Given the description of an element on the screen output the (x, y) to click on. 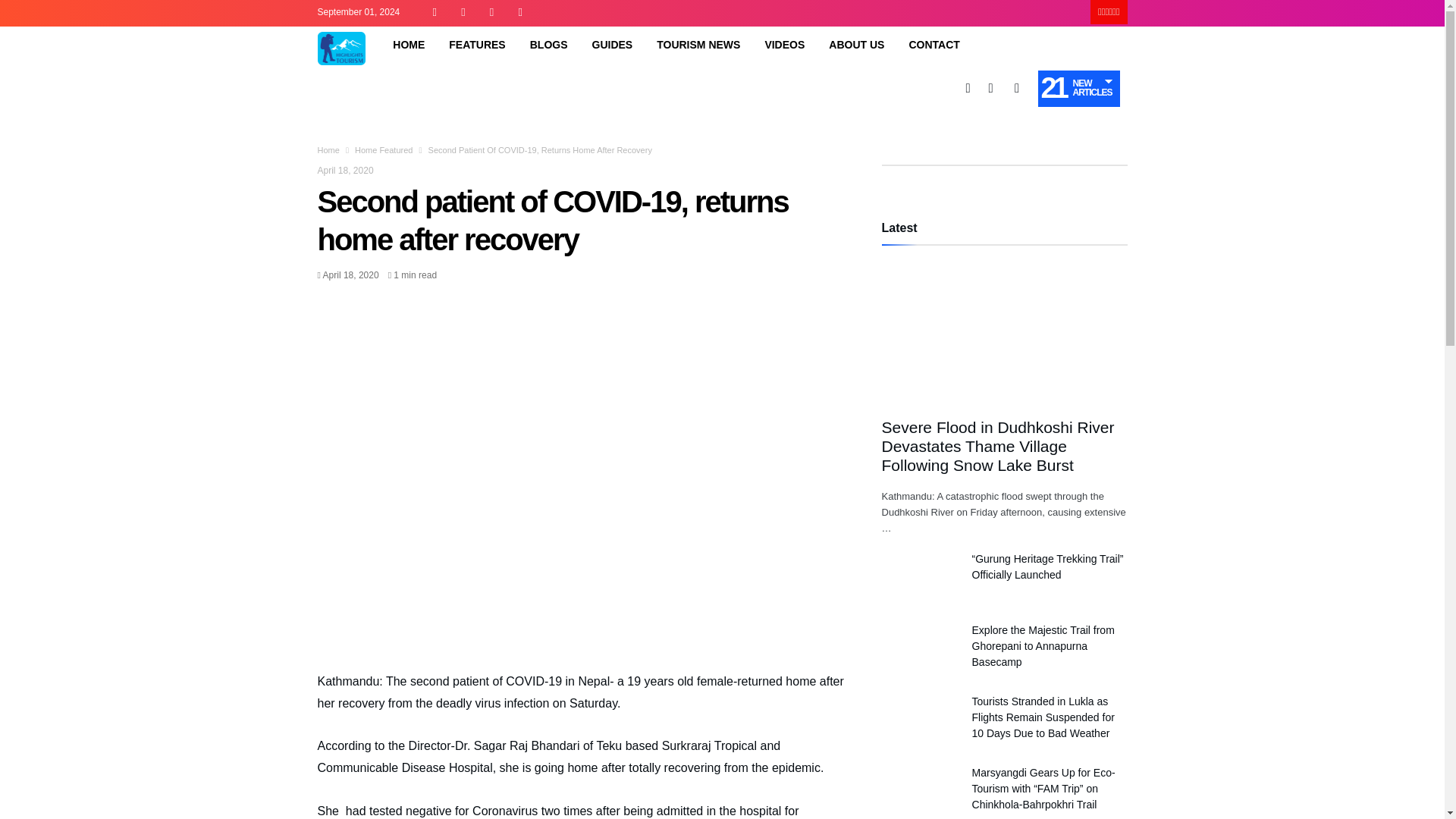
GUIDES (612, 44)
BLOGS (548, 44)
Home (328, 149)
HOME (408, 44)
Twitter (463, 13)
Highlights Tourism (341, 31)
LinkedIn (491, 13)
Home Featured (383, 149)
TOURISM NEWS (698, 44)
FEATURES (476, 44)
